Given the description of an element on the screen output the (x, y) to click on. 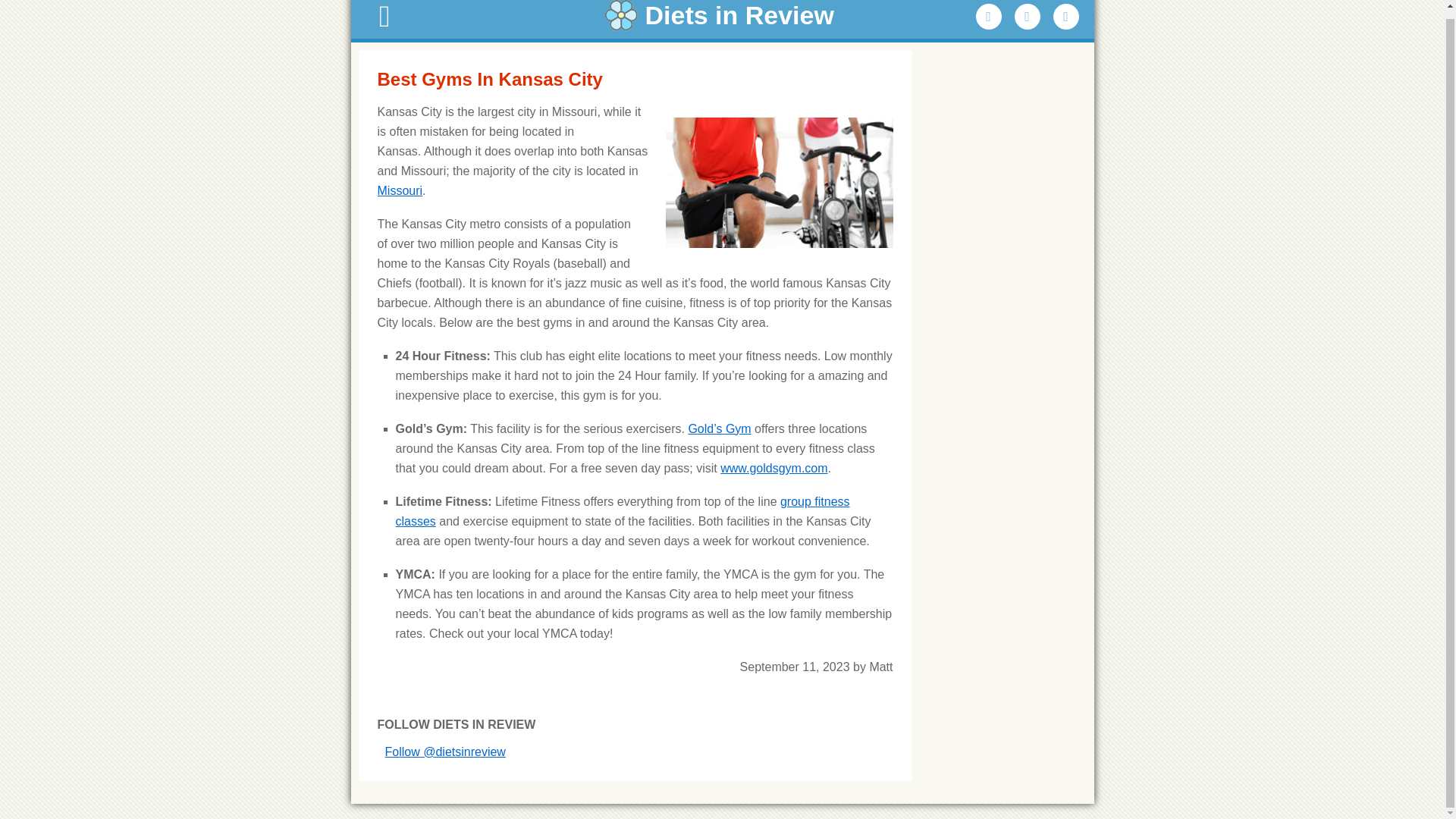
Diets in Review Blog (722, 15)
Add to Twitter (1027, 16)
Missouri (400, 190)
Share with Facebook (988, 16)
www.goldsgym.com (773, 468)
Diets in Review (722, 15)
best gyms (779, 182)
Gold's Gym Cardio Workout (719, 428)
Best Places to Run in Missouri (400, 190)
most popular fitness classes (623, 511)
